Given the description of an element on the screen output the (x, y) to click on. 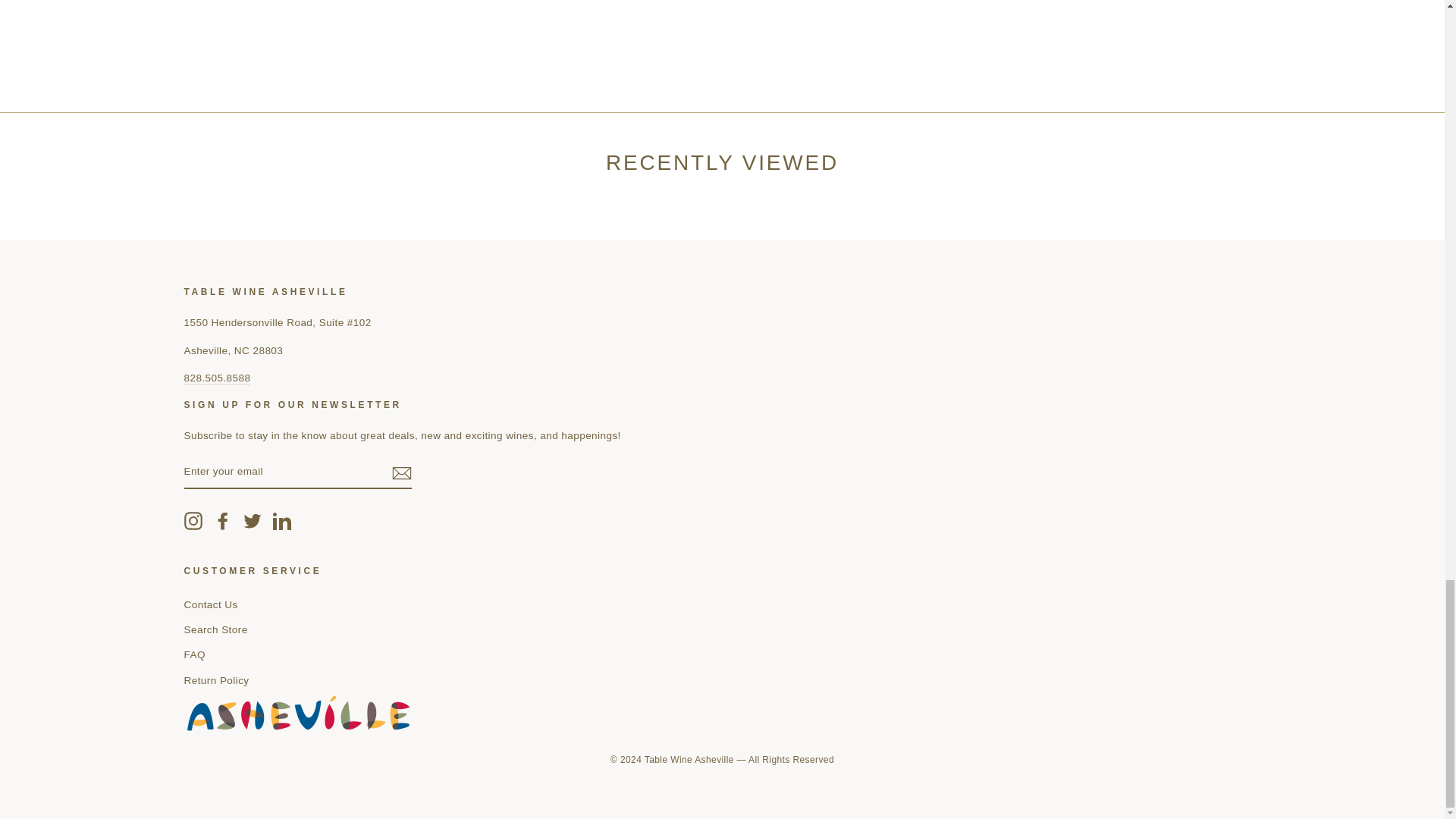
Table Wine Asheville on Facebook (222, 520)
Table Wine Asheville on Instagram (192, 520)
tel:828.505.8588 (216, 378)
Table Wine Asheville on Twitter (251, 520)
Table Wine Asheville on LinkedIn (282, 520)
